Given the description of an element on the screen output the (x, y) to click on. 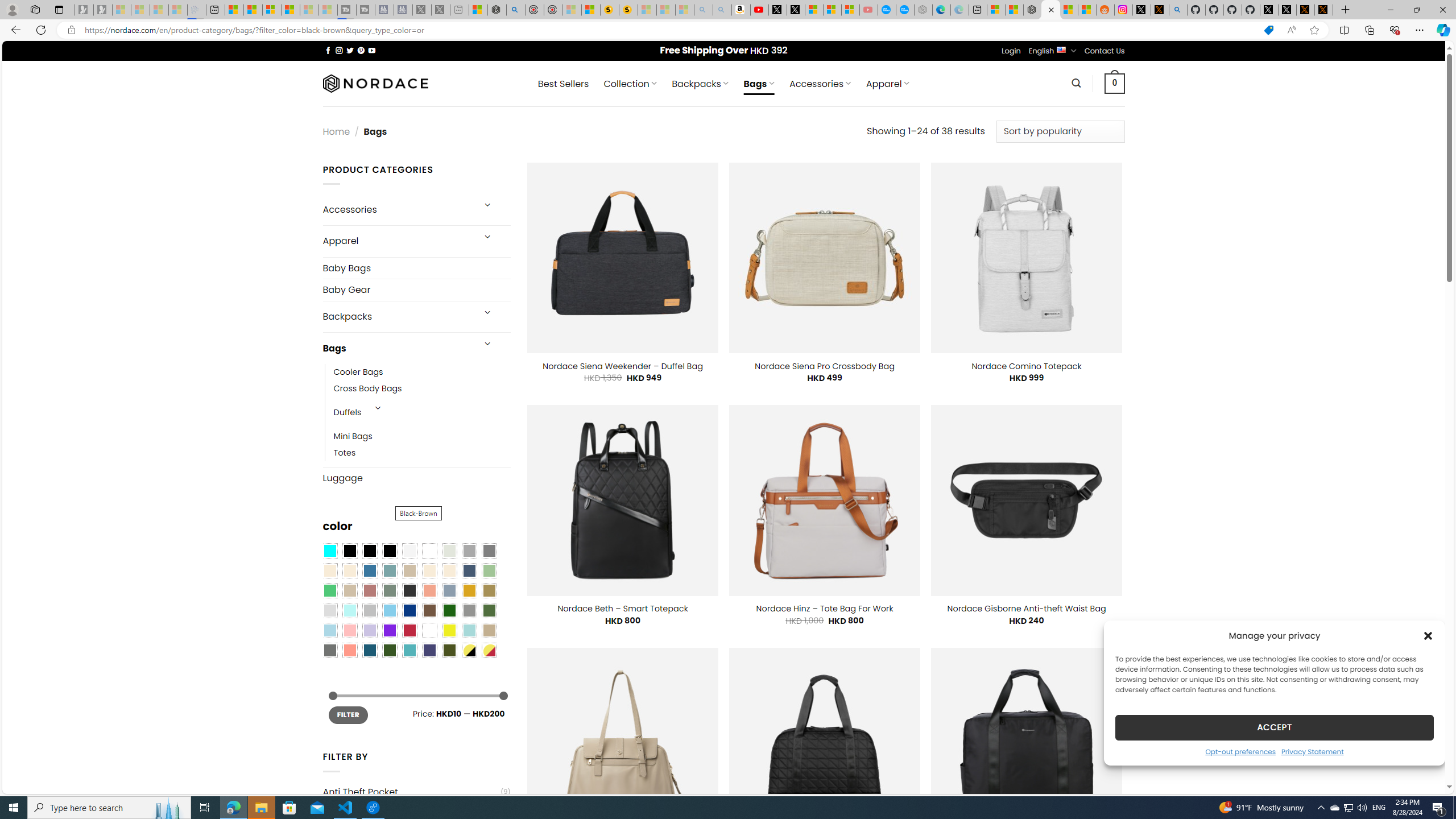
 0  (1115, 83)
All Gray (488, 550)
Anti Theft Pocket(9) (416, 791)
Shanghai, China Weather trends | Microsoft Weather (1086, 9)
English (1061, 49)
Dusty Blue (449, 590)
ACCEPT (1274, 727)
Coral (429, 590)
Baby Bags (416, 267)
Navy Blue (408, 610)
Totes (344, 452)
